Given the description of an element on the screen output the (x, y) to click on. 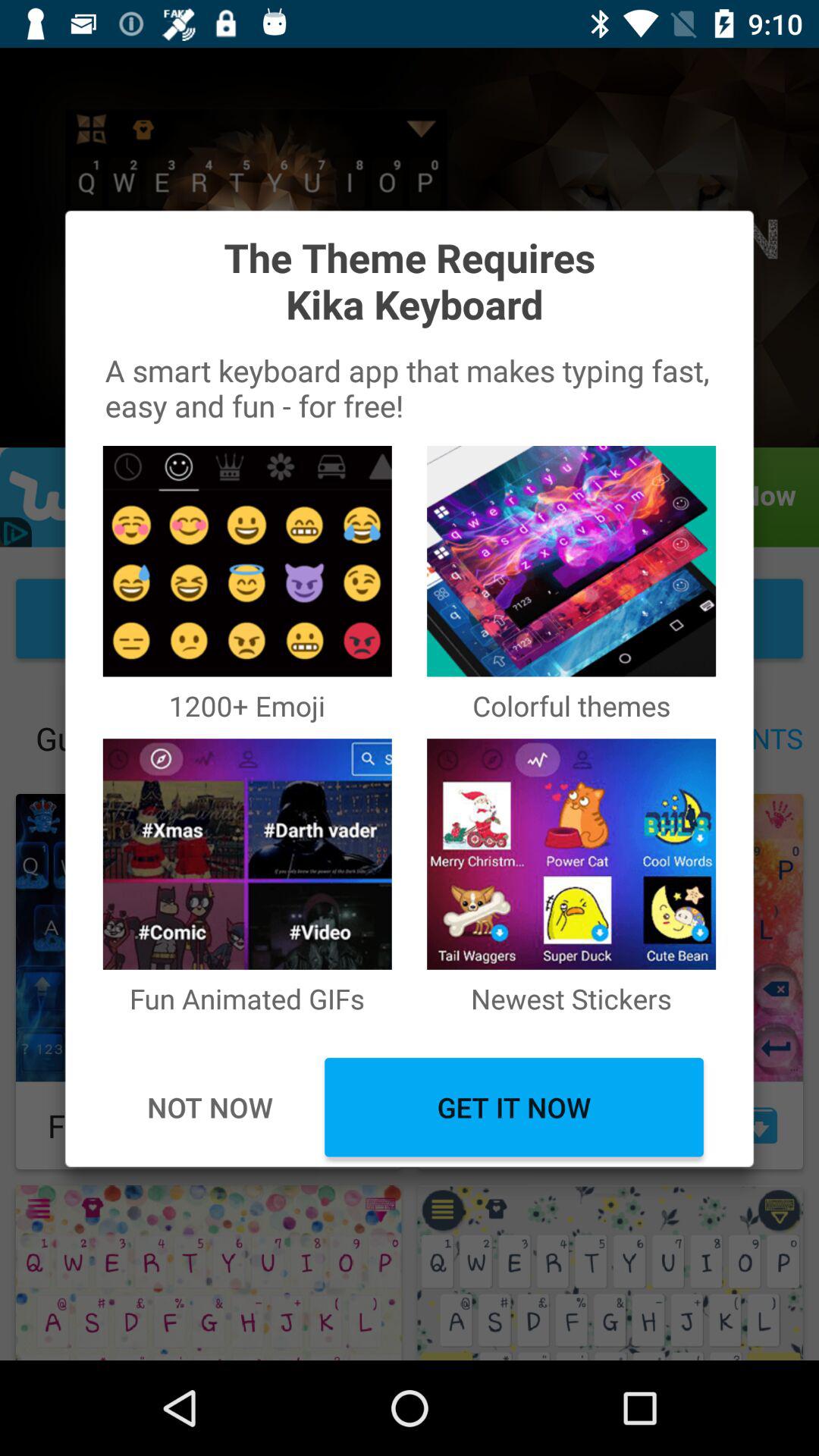
turn off icon below the fun animated gifs (209, 1106)
